Given the description of an element on the screen output the (x, y) to click on. 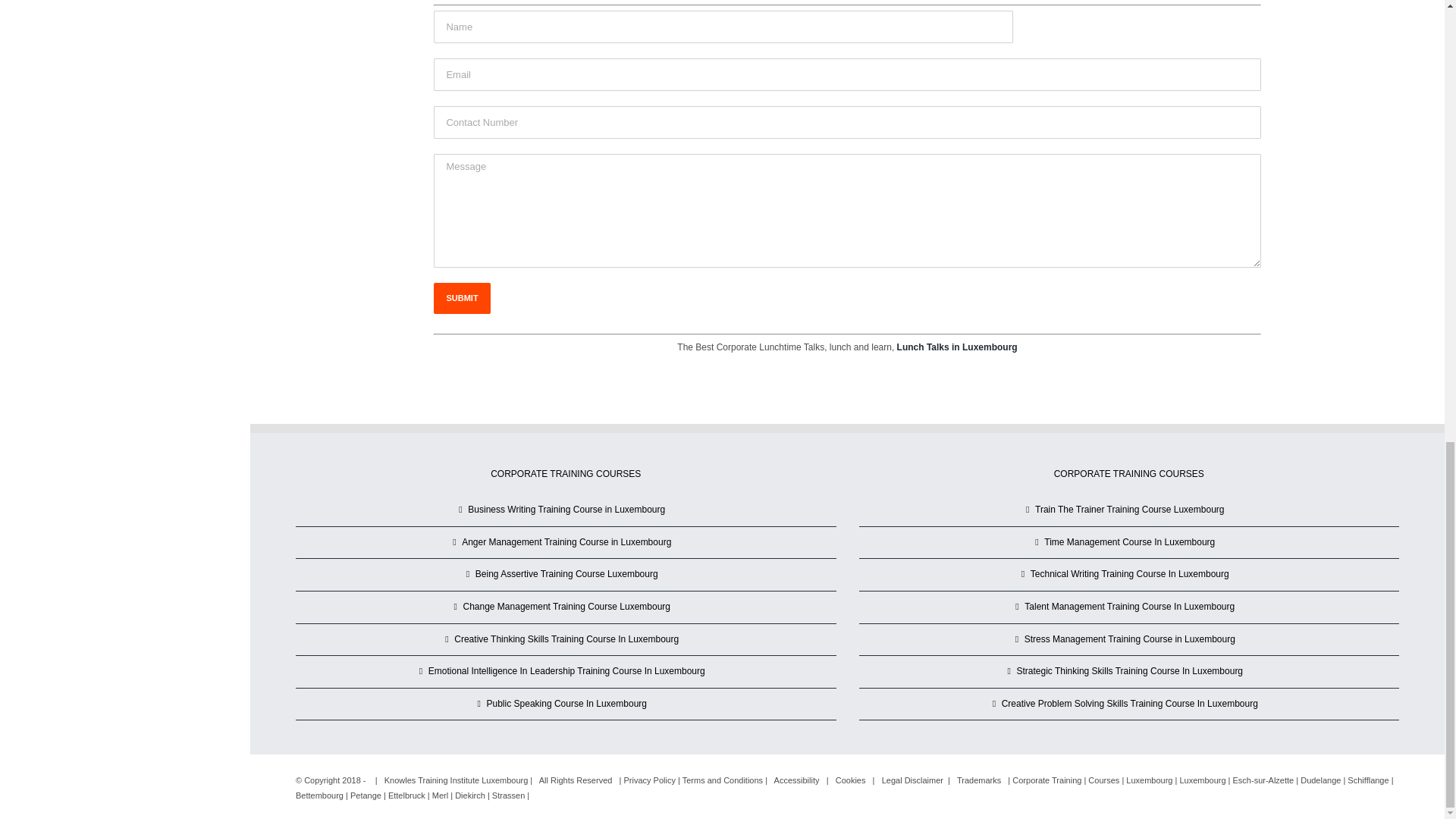
Terms and Conditions (722, 779)
Change Management Training Course Luxembourg (566, 606)
Strategic Thinking Skills Training Course In Luxembourg (1129, 671)
submit (461, 297)
Creative Thinking Skills Training Course In Luxembourg (566, 639)
Stress Management Training Course in Luxembourg (1129, 639)
Time Management Course In Luxembourg (1129, 542)
Anger Management Training Course in Luxembourg (566, 542)
Talent Management Training Course In Luxembourg (1129, 606)
